Given the description of an element on the screen output the (x, y) to click on. 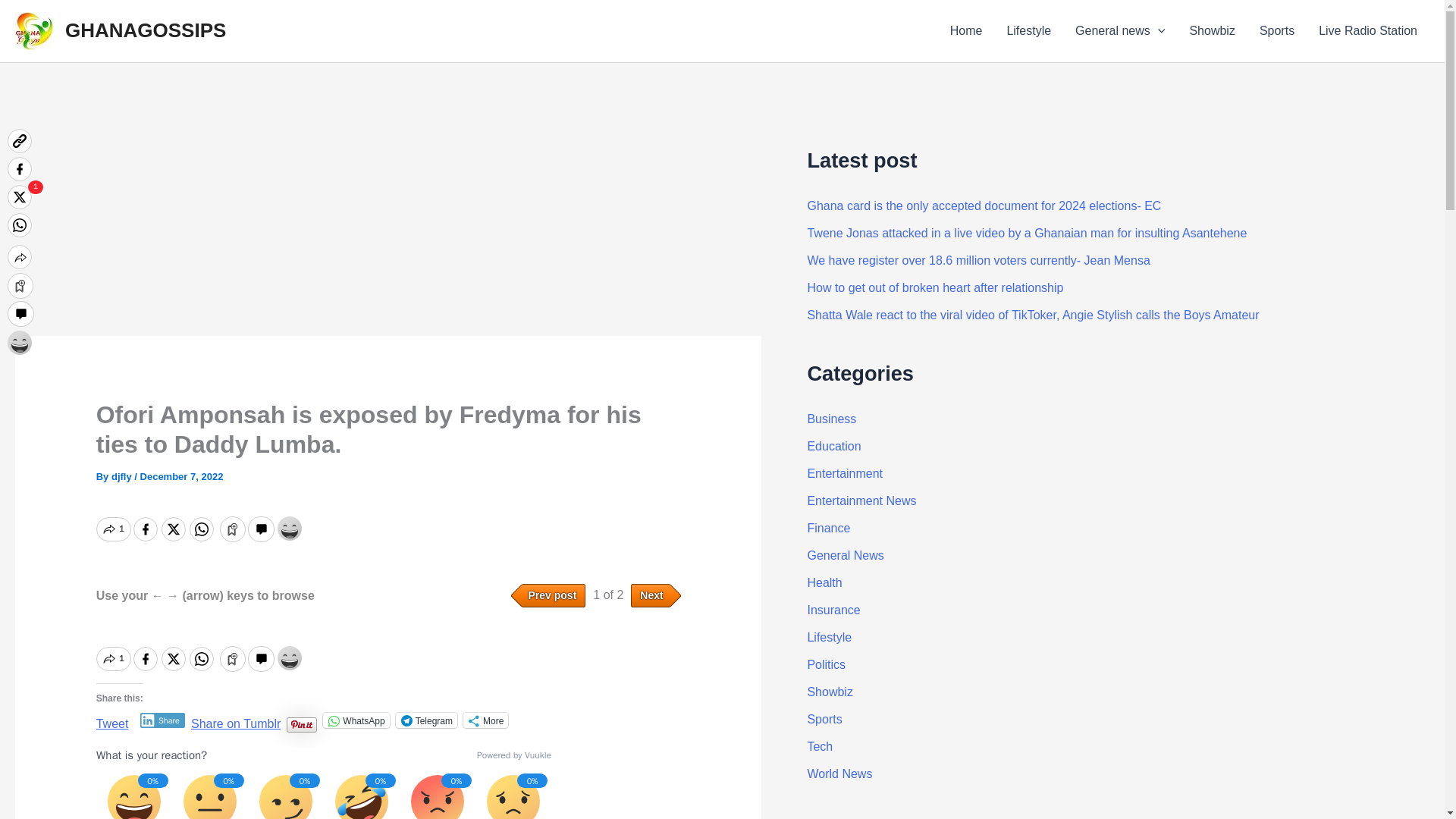
Tweet (112, 719)
Showbiz (1211, 30)
Home (965, 30)
General news (1119, 30)
djfly (122, 476)
Telegram (426, 720)
Prev post (548, 595)
Vuukle Sharebar Widget (388, 656)
Share on Tumblr (235, 719)
Share on Tumblr (235, 719)
Vuukle Sharebar Widget (388, 527)
Share (161, 720)
GHANAGOSSIPS (145, 29)
Vuukle Emotes Widget (323, 783)
Live Radio Station (1367, 30)
